Given the description of an element on the screen output the (x, y) to click on. 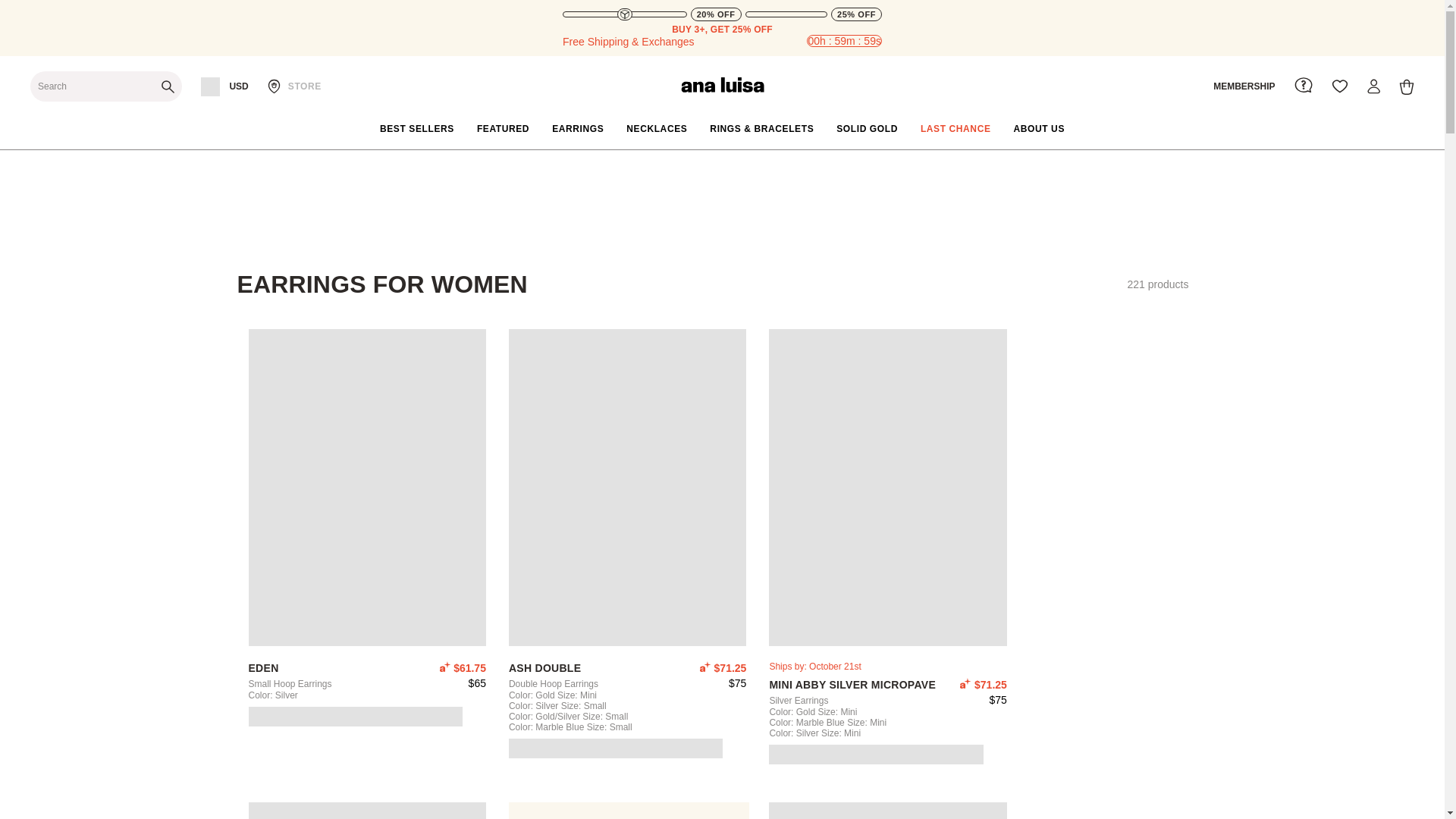
Search (106, 86)
STORE (294, 86)
Wishlist (1340, 86)
BEST SELLERS (417, 128)
